Given the description of an element on the screen output the (x, y) to click on. 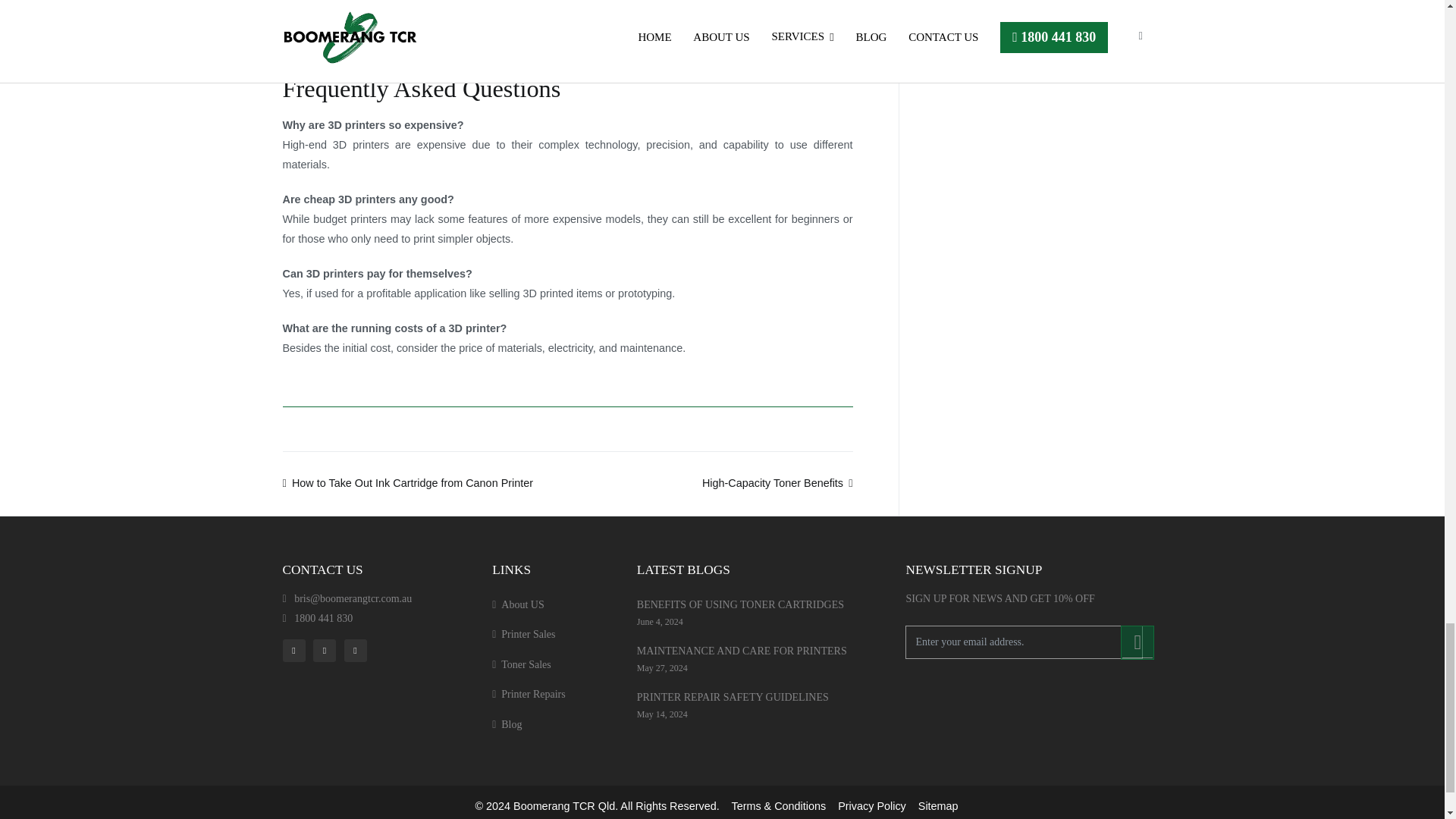
How to Take Out Ink Cartridge from Canon Printer (407, 482)
Facebook (296, 650)
Zakra Main (563, 806)
twitter (326, 650)
Contact us (531, 27)
High-Capacity Toner Benefits (777, 482)
GooglePlus (357, 650)
